Given the description of an element on the screen output the (x, y) to click on. 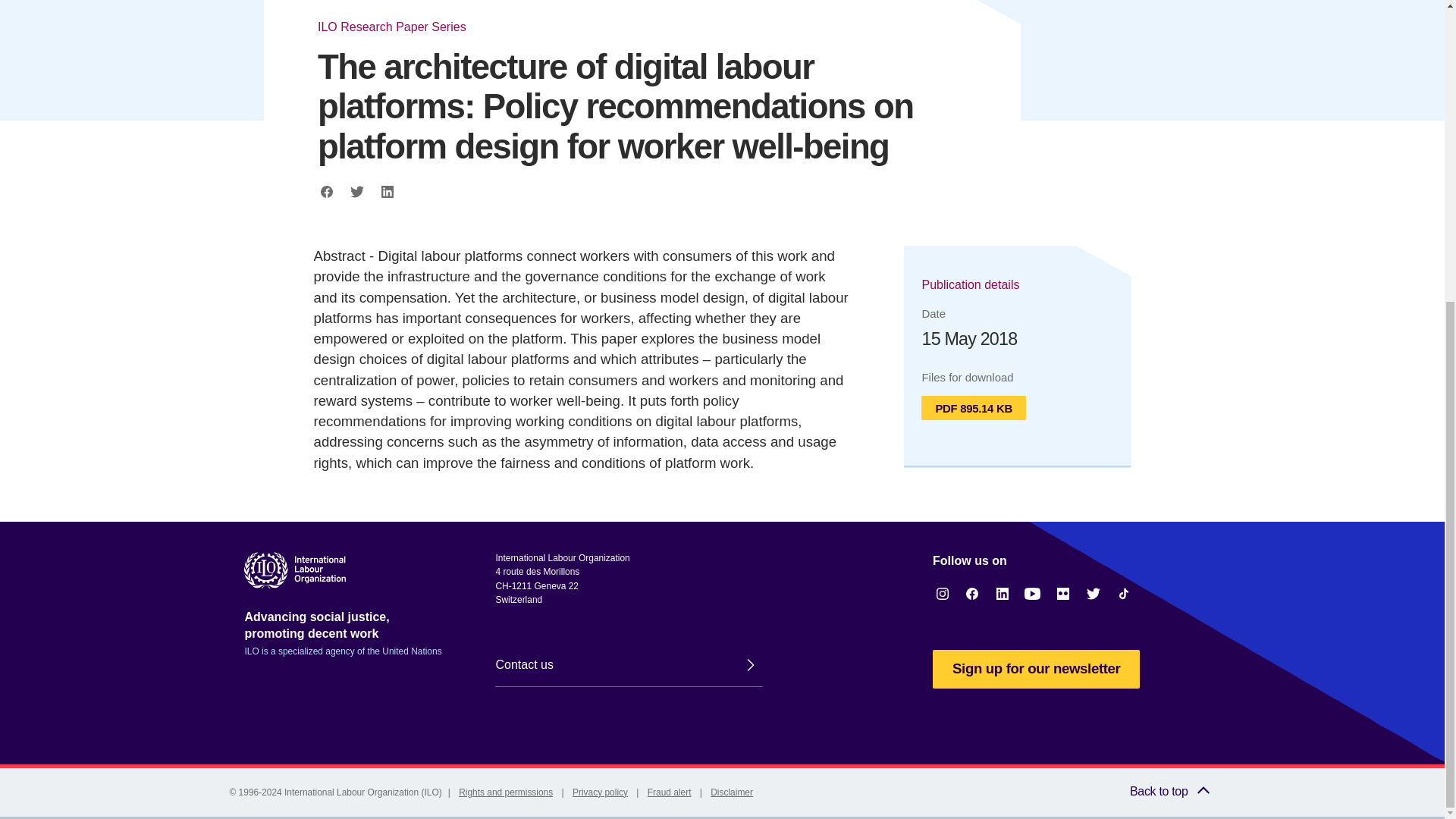
Flickr (1062, 593)
Linkedin (1001, 593)
Contact us (628, 664)
Linkedin (387, 191)
Facebook (326, 191)
Instagram (941, 593)
PDF 895.14 KB (973, 407)
Twitter (356, 191)
Youtube (1032, 593)
Tiktok (1123, 593)
